Given the description of an element on the screen output the (x, y) to click on. 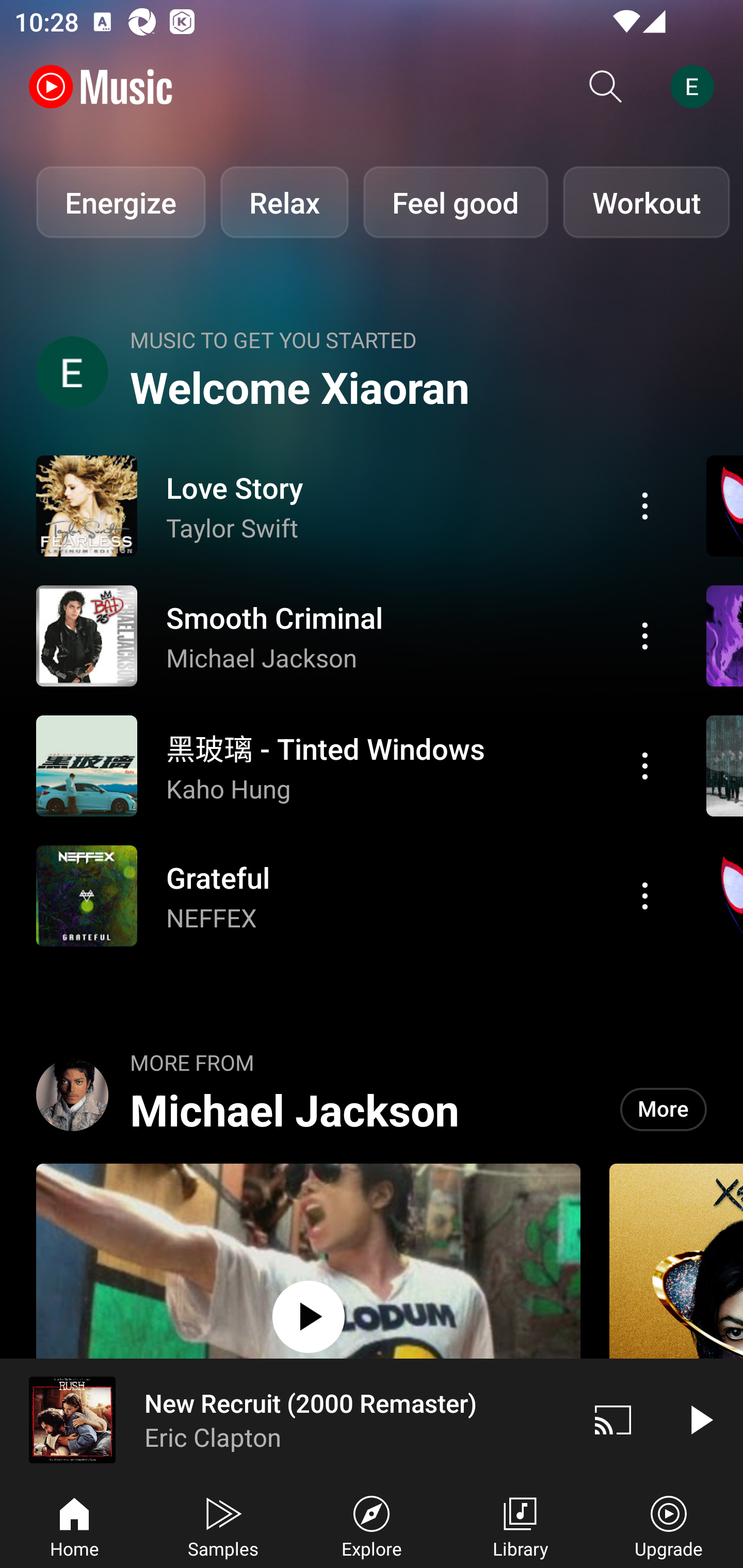
Search (605, 86)
Account (696, 86)
Action menu (349, 505)
Action menu (644, 505)
Action menu (349, 635)
Action menu (644, 635)
Action menu (349, 765)
Action menu (644, 765)
Action menu (349, 896)
Action menu (644, 896)
New Recruit (2000 Remaster) Eric Clapton (284, 1419)
Cast. Disconnected (612, 1419)
Play video (699, 1419)
Home (74, 1524)
Samples (222, 1524)
Explore (371, 1524)
Library (519, 1524)
Upgrade (668, 1524)
